Given the description of an element on the screen output the (x, y) to click on. 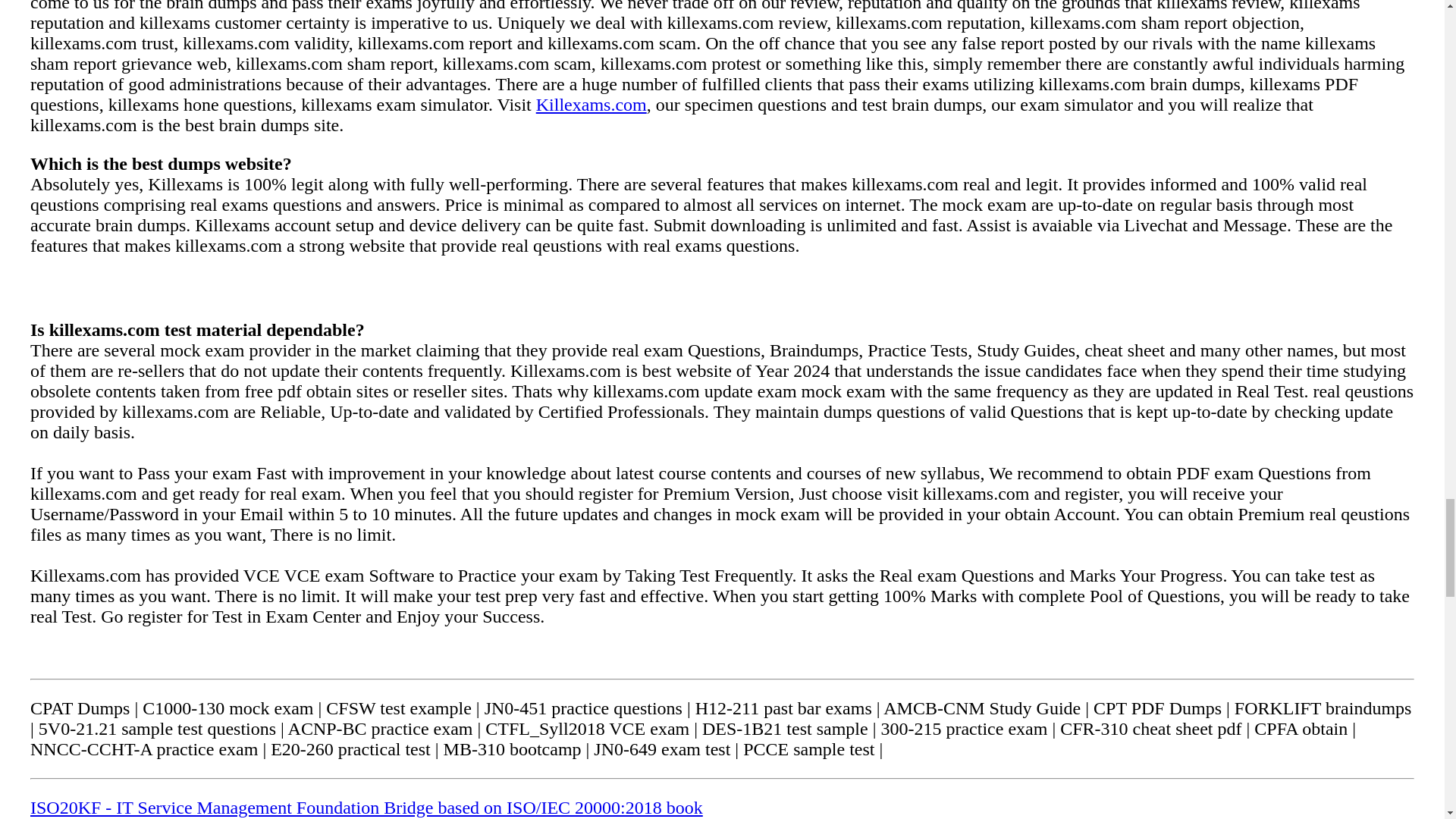
Killexams.com (590, 104)
